Given the description of an element on the screen output the (x, y) to click on. 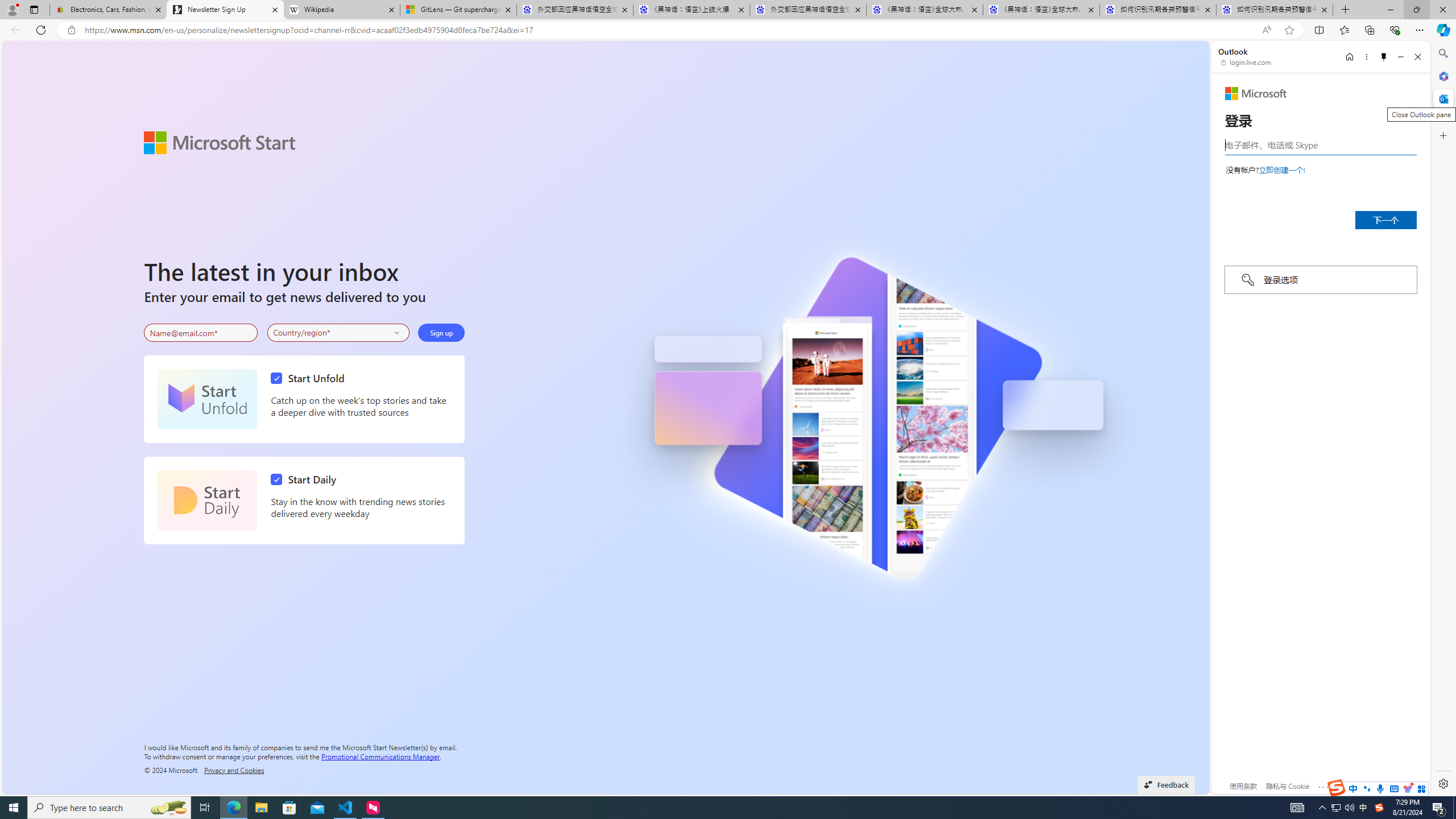
login.live.com (1246, 61)
Start Unfold (310, 378)
Privacy and Cookies (233, 769)
Unpin side pane (1383, 56)
Select your country (338, 332)
